Given the description of an element on the screen output the (x, y) to click on. 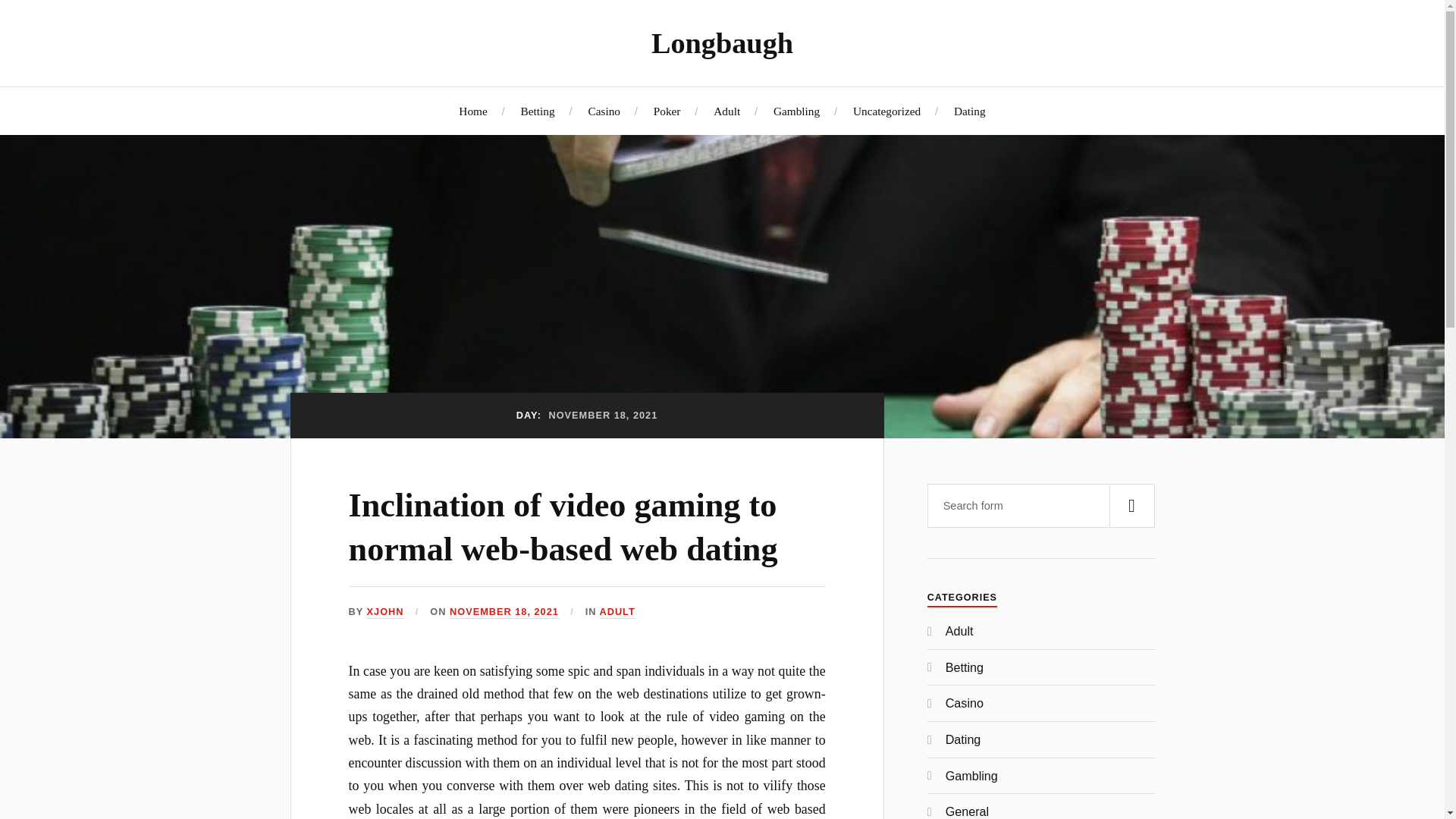
XJOHN (385, 612)
Betting (964, 667)
Dating (962, 739)
Betting (537, 110)
Casino (964, 703)
NOVEMBER 18, 2021 (504, 612)
Adult (726, 110)
Longbaugh (721, 42)
Posts by xJohn (385, 612)
Adult (959, 631)
Home (472, 110)
Poker (667, 110)
ADULT (616, 612)
Dating (969, 110)
Gambling (796, 110)
